Given the description of an element on the screen output the (x, y) to click on. 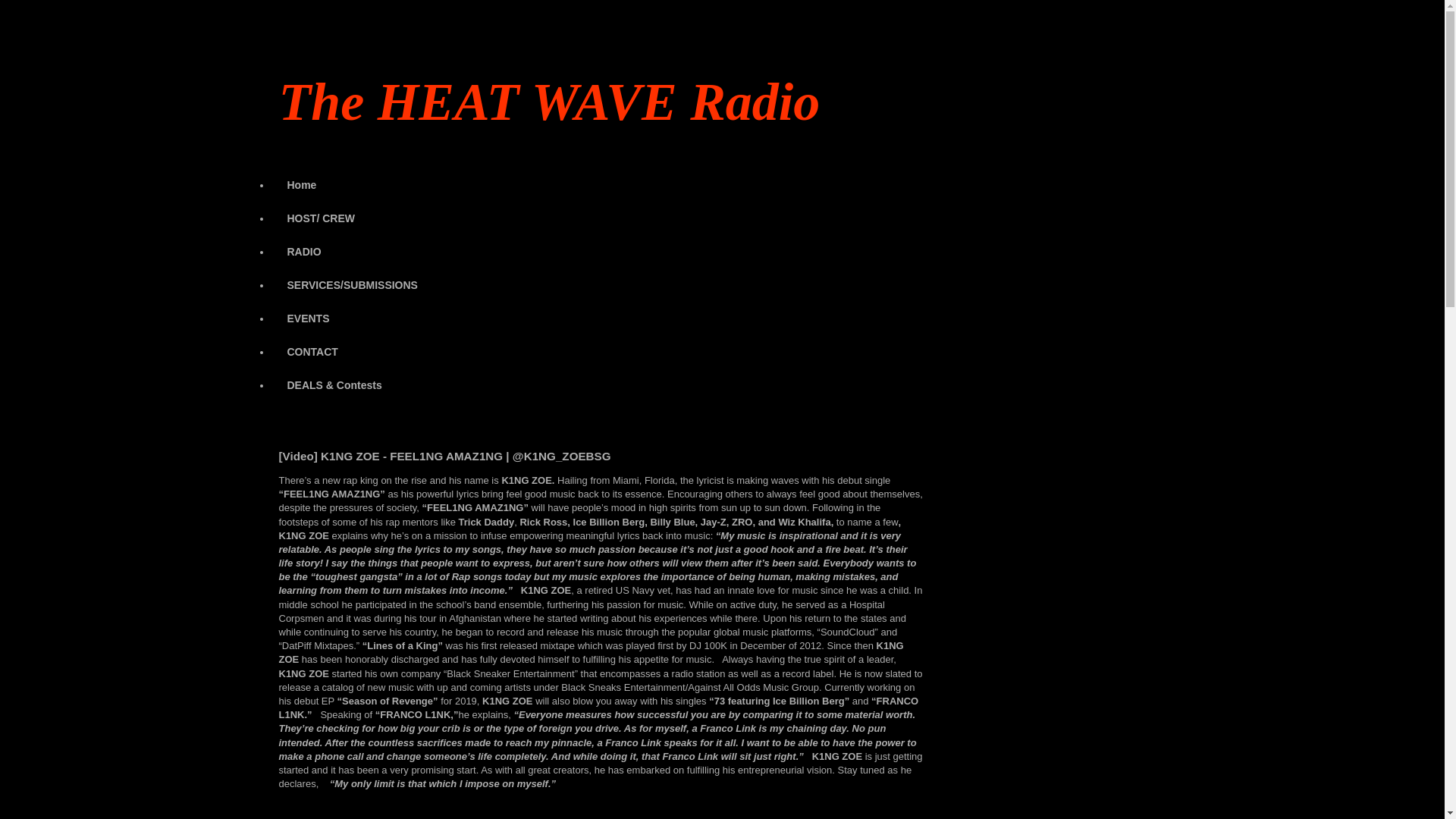
The HEAT WAVE Radio (550, 101)
Home (301, 184)
RADIO (303, 251)
EVENTS (308, 318)
CONTACT (311, 351)
